Given the description of an element on the screen output the (x, y) to click on. 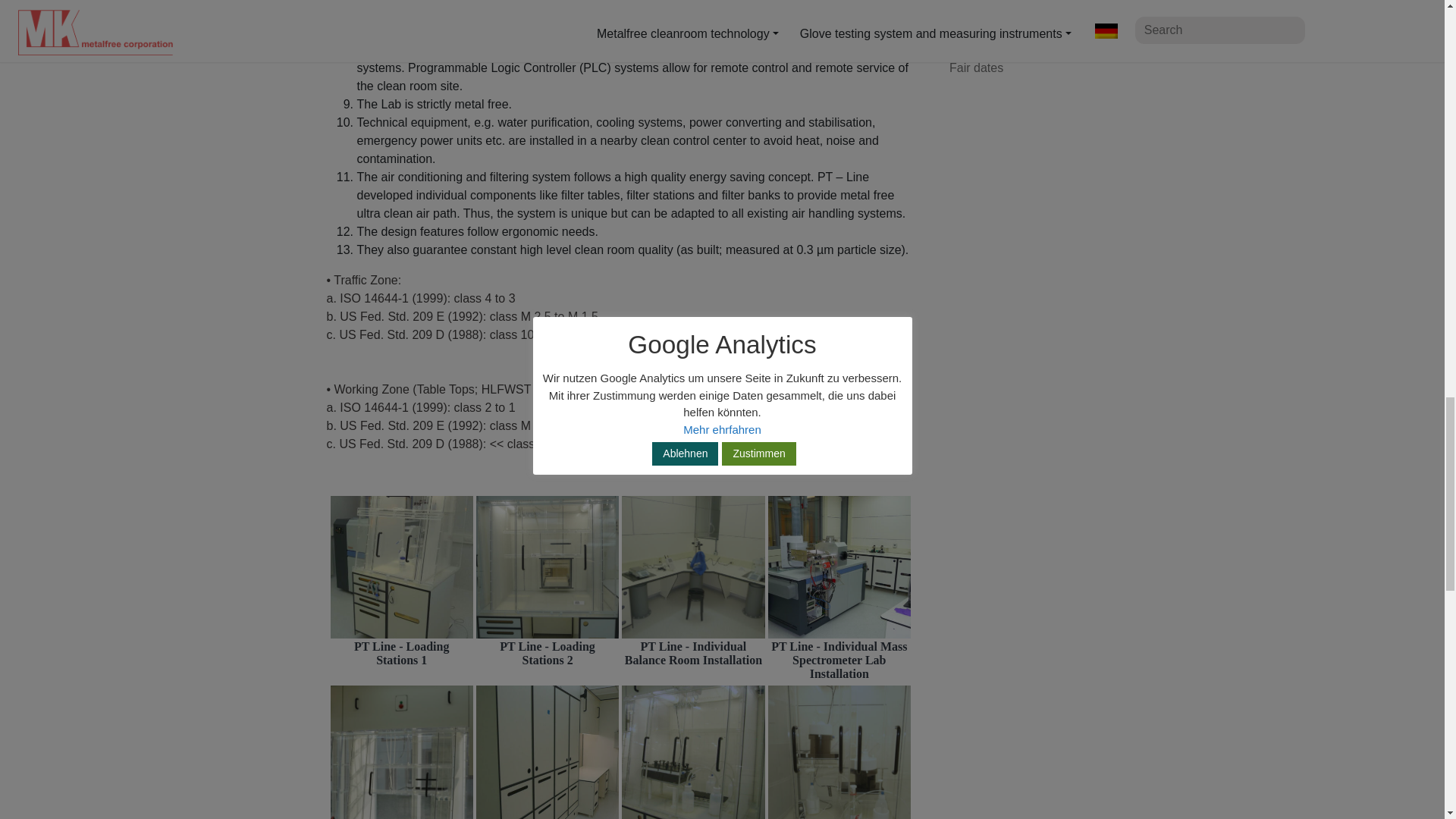
PT Line - Individual Balance Room Installation (693, 567)
PT Line - Acids and Chemicals Storage unit (547, 740)
PT Line - Ion Exchange Processing Stations (401, 742)
PT Line - Individual Mass Spectrometer Lab Installation (838, 567)
PT Line - Loading Stations 2 (547, 567)
PT Line - Acid Purification Stations (839, 746)
PT Line - Acid Digestion Stations (692, 749)
